Given the description of an element on the screen output the (x, y) to click on. 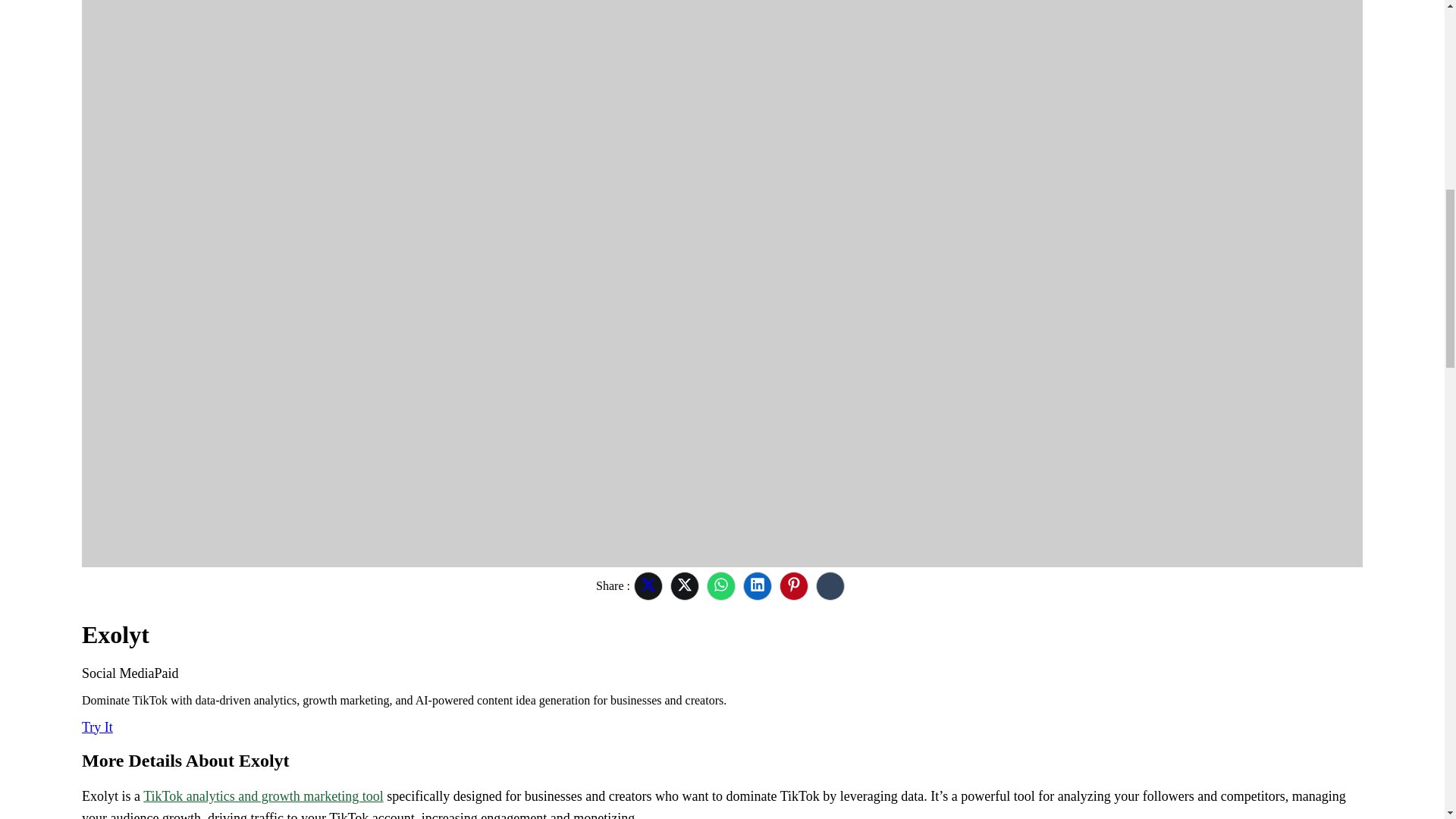
Try It (97, 726)
TikTok analytics and growth marketing tool (263, 795)
